Given the description of an element on the screen output the (x, y) to click on. 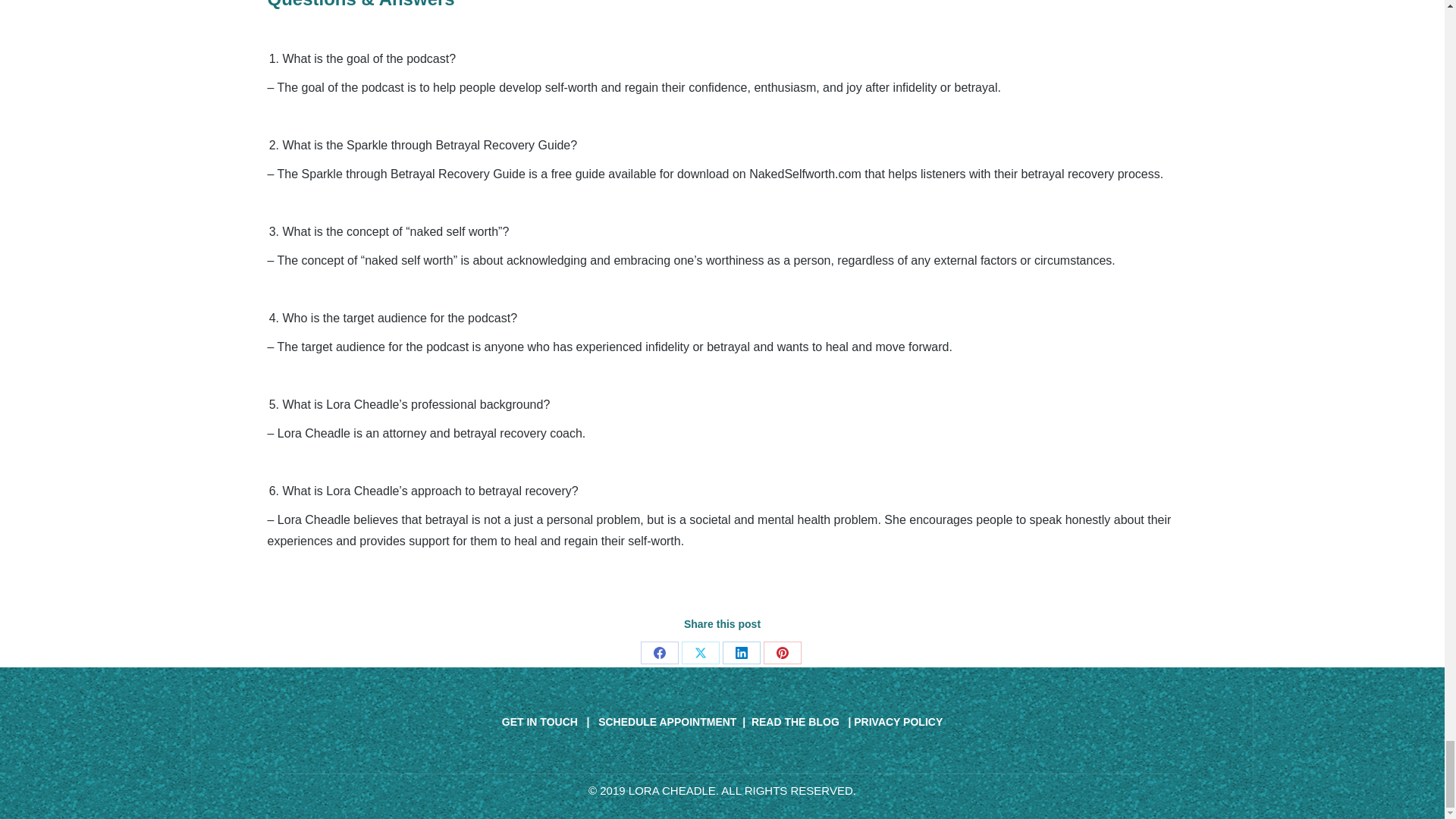
GET IN TOUCH  (541, 721)
Pinterest (781, 652)
LinkedIn (741, 652)
PRIVACY POLICY (897, 721)
X (700, 652)
SCHEDULE APPOINTMENT (667, 721)
READ THE BLOG (795, 721)
Facebook (659, 652)
